Given the description of an element on the screen output the (x, y) to click on. 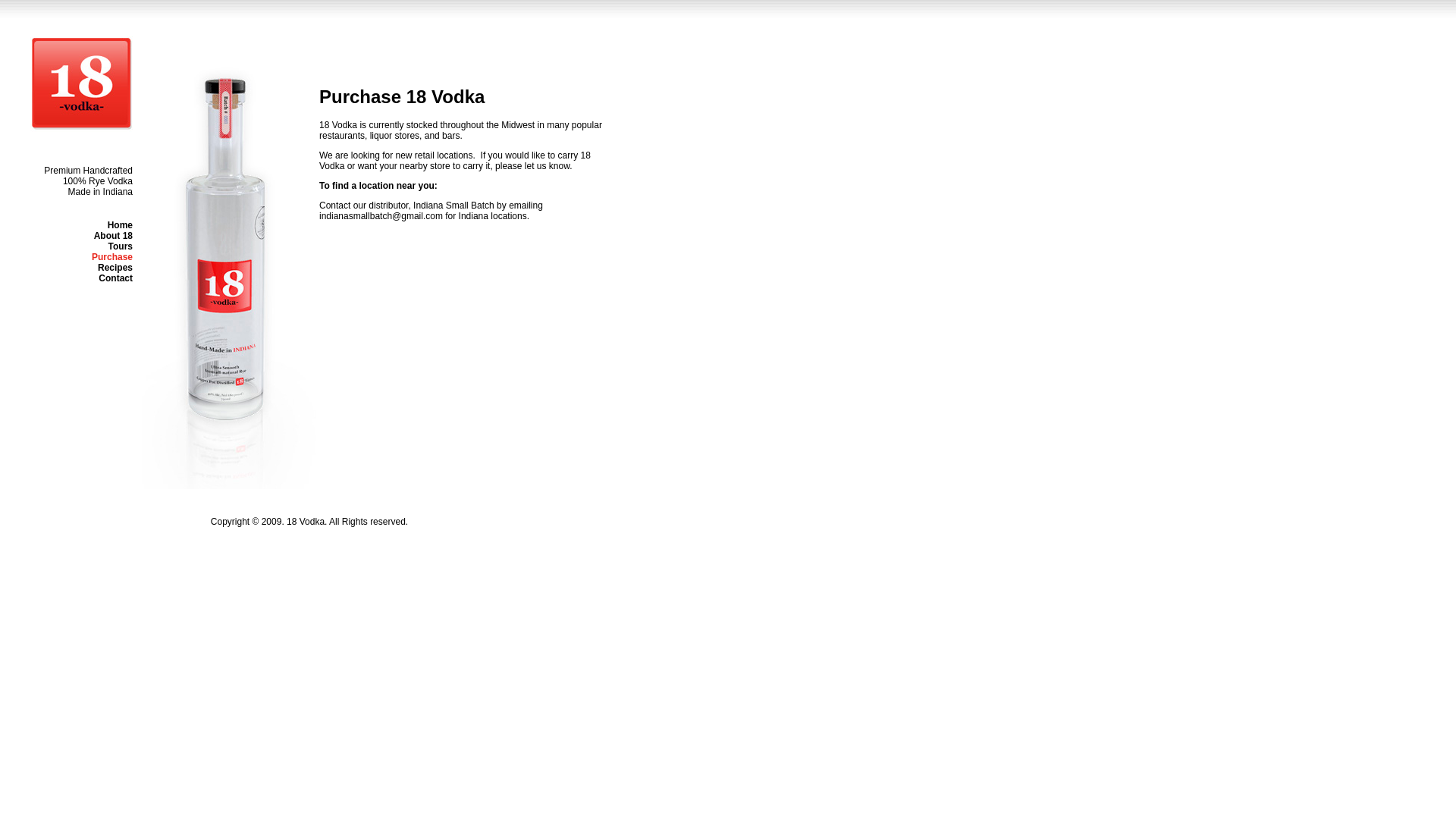
Recipes Element type: text (114, 267)
Tours Element type: text (120, 246)
Home Element type: text (119, 224)
About 18 Element type: text (113, 235)
Contact Element type: text (115, 278)
